Given the description of an element on the screen output the (x, y) to click on. 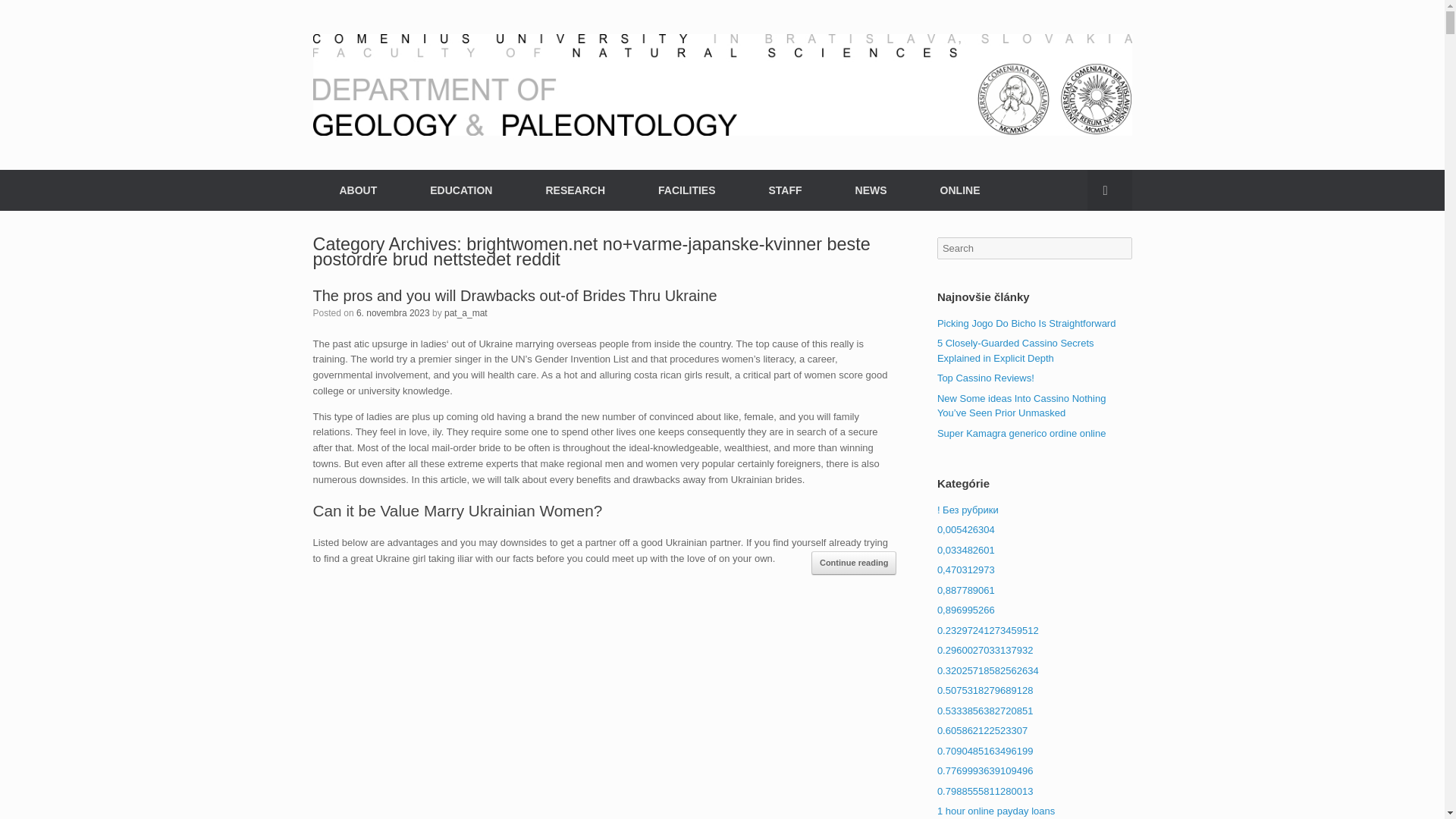
RESEARCH (574, 189)
ABOUT (358, 189)
EDUCATION (460, 189)
FACILITIES (686, 189)
STAFF (784, 189)
4:19 (392, 312)
